Given the description of an element on the screen output the (x, y) to click on. 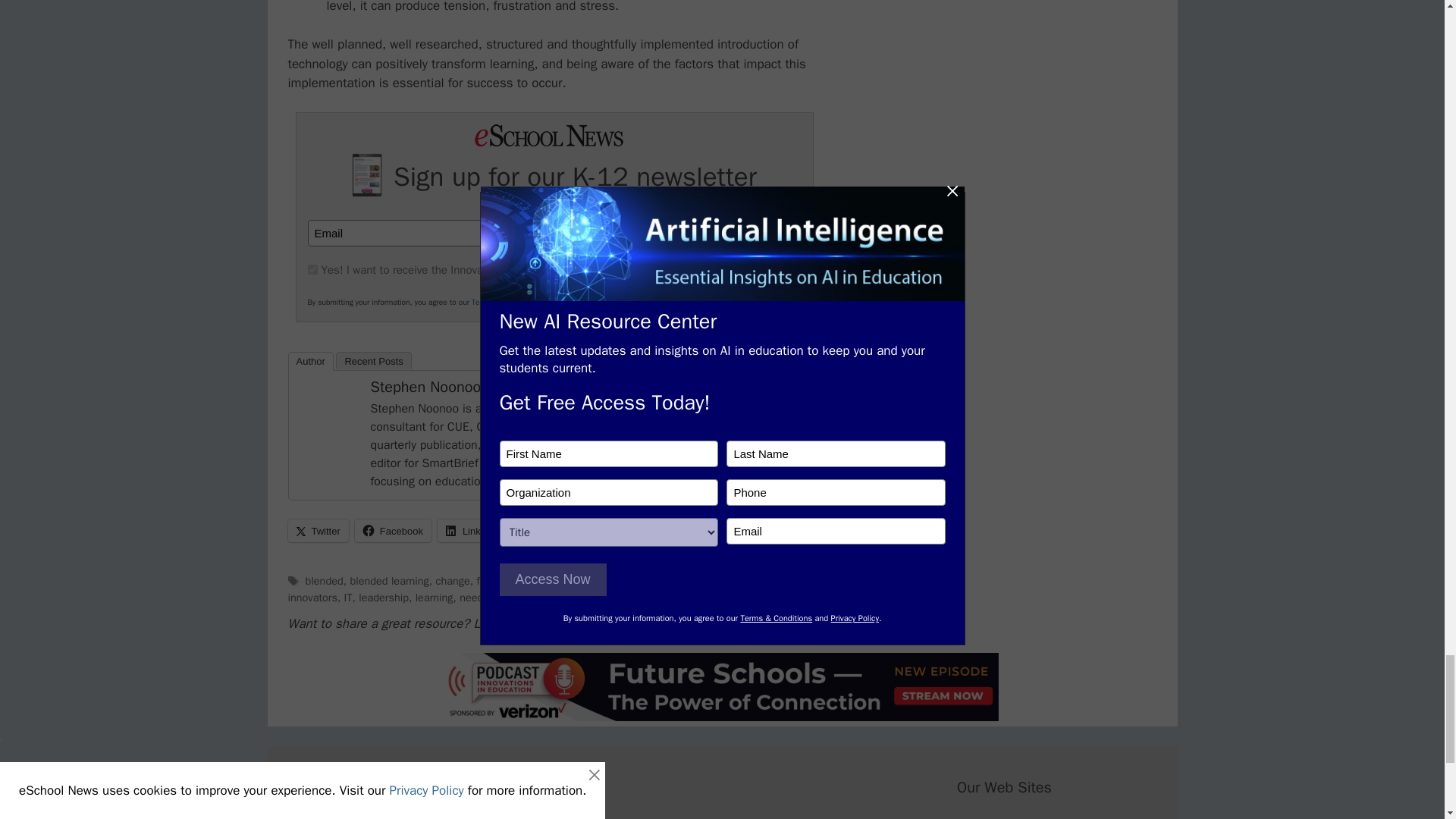
100 (312, 269)
SUBSCRIBE (727, 233)
